Given the description of an element on the screen output the (x, y) to click on. 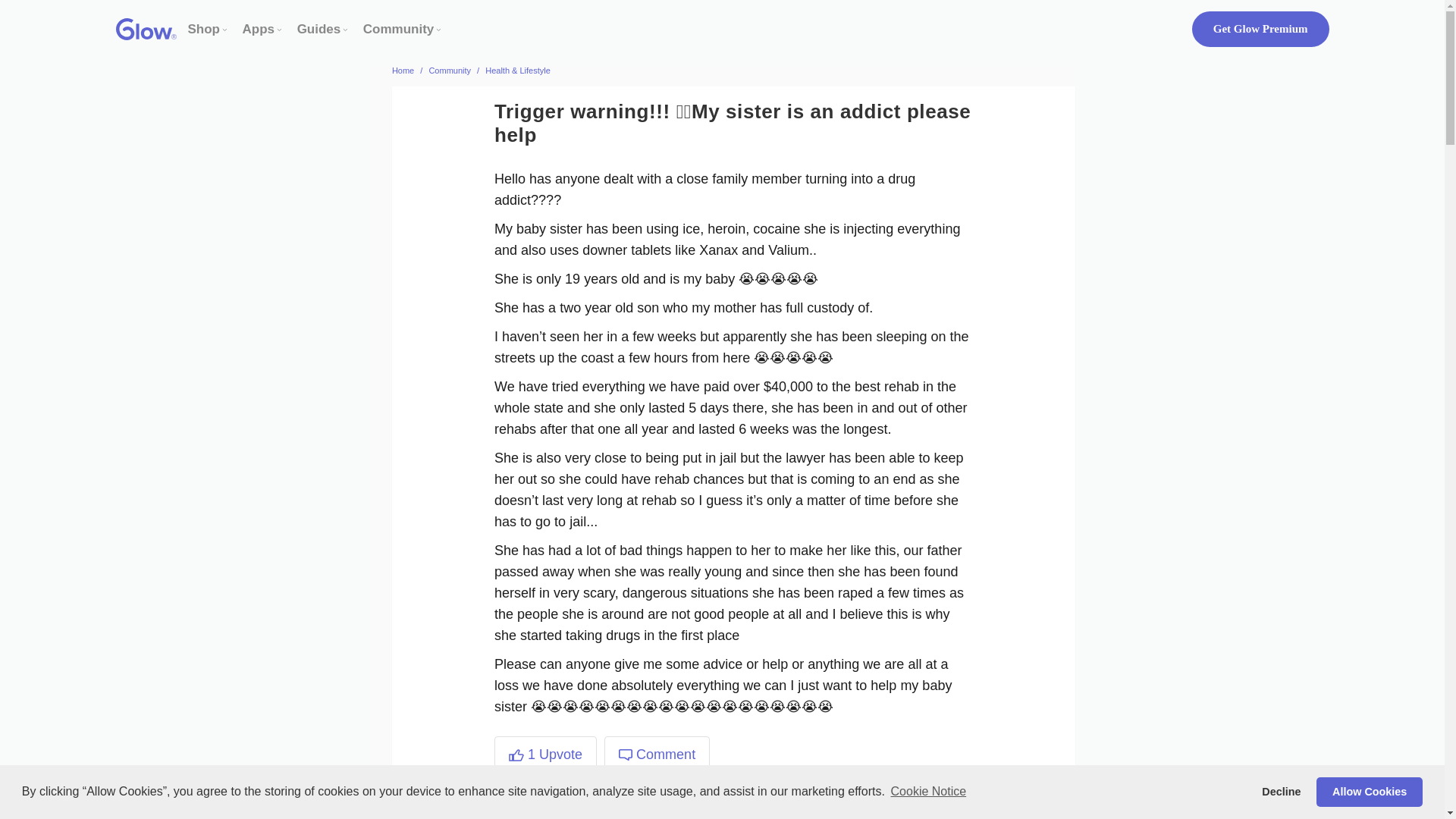
Glow Shop (204, 28)
Cookie Notice (928, 791)
Guides (318, 28)
Shop (204, 28)
Allow Cookies (1369, 791)
Apps (259, 28)
Glow Community (397, 28)
Decline (1281, 791)
